Given the description of an element on the screen output the (x, y) to click on. 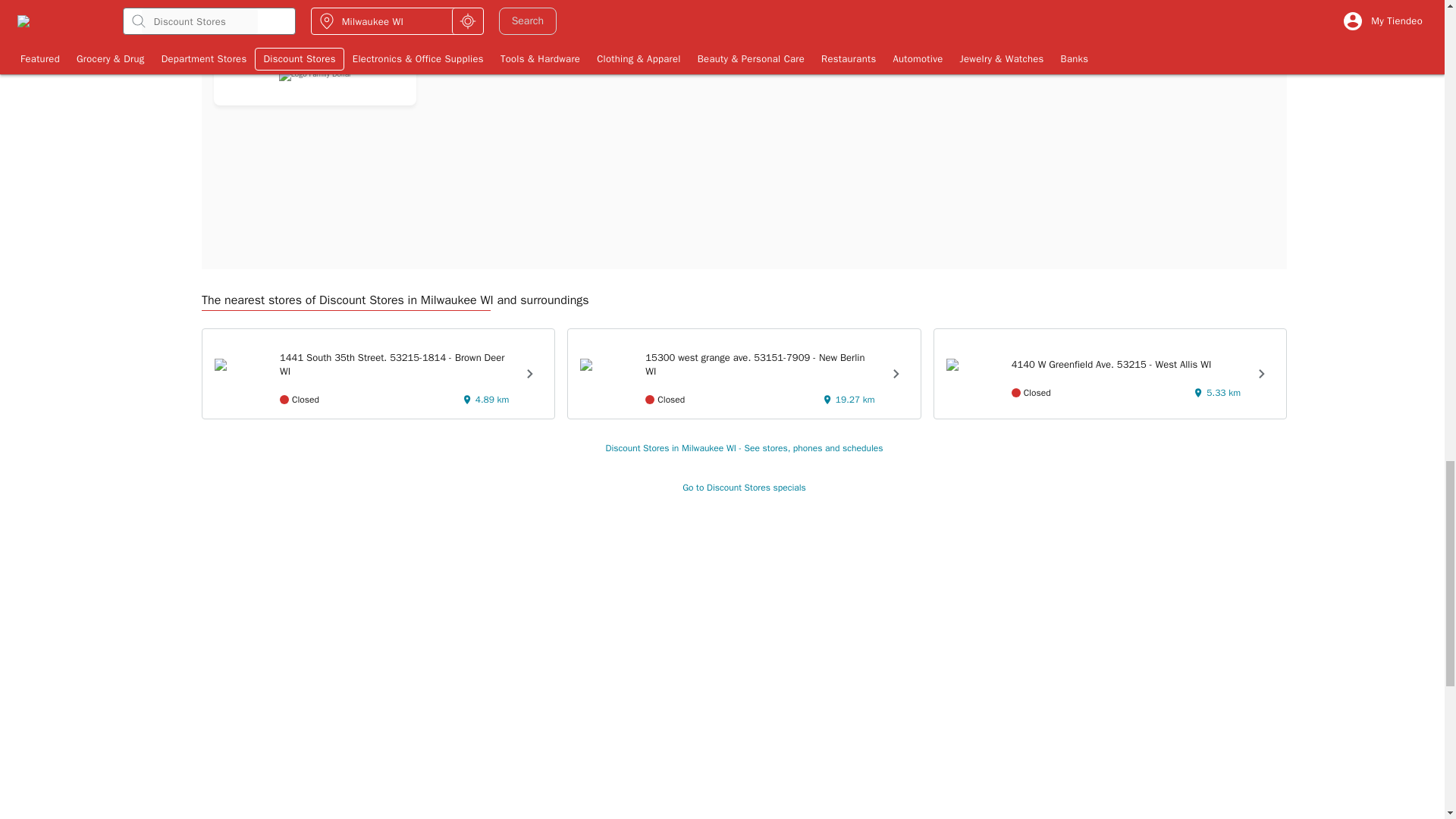
Logo Family Dollar (315, 74)
